Given the description of an element on the screen output the (x, y) to click on. 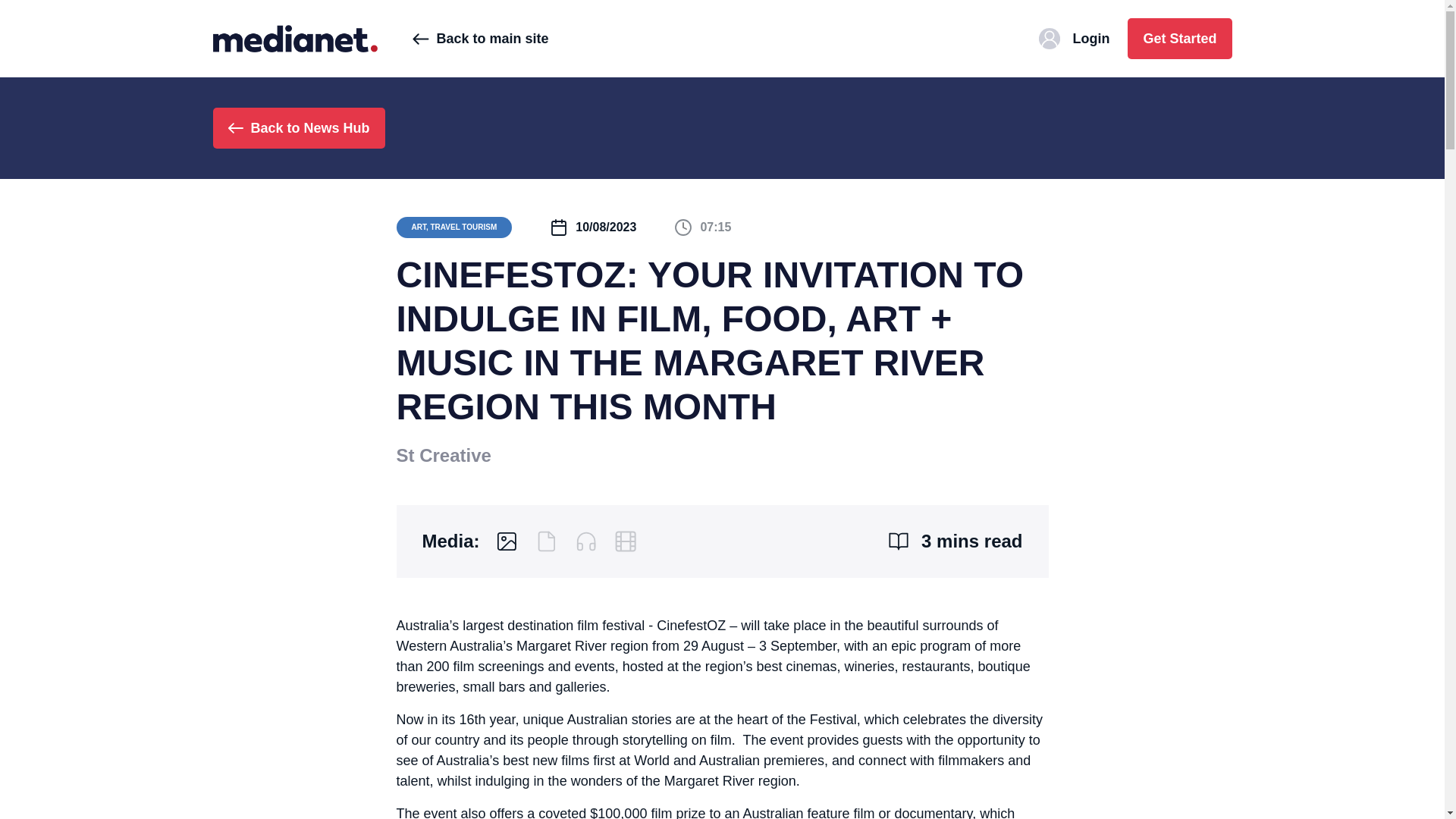
No audio attachments (585, 541)
Get Started (1178, 38)
Back to main site (480, 38)
No video attachments (624, 541)
News Hub (294, 38)
No file attachments (546, 541)
Scroll to images (507, 541)
Back to News Hub (298, 127)
Login (1074, 38)
